Given the description of an element on the screen output the (x, y) to click on. 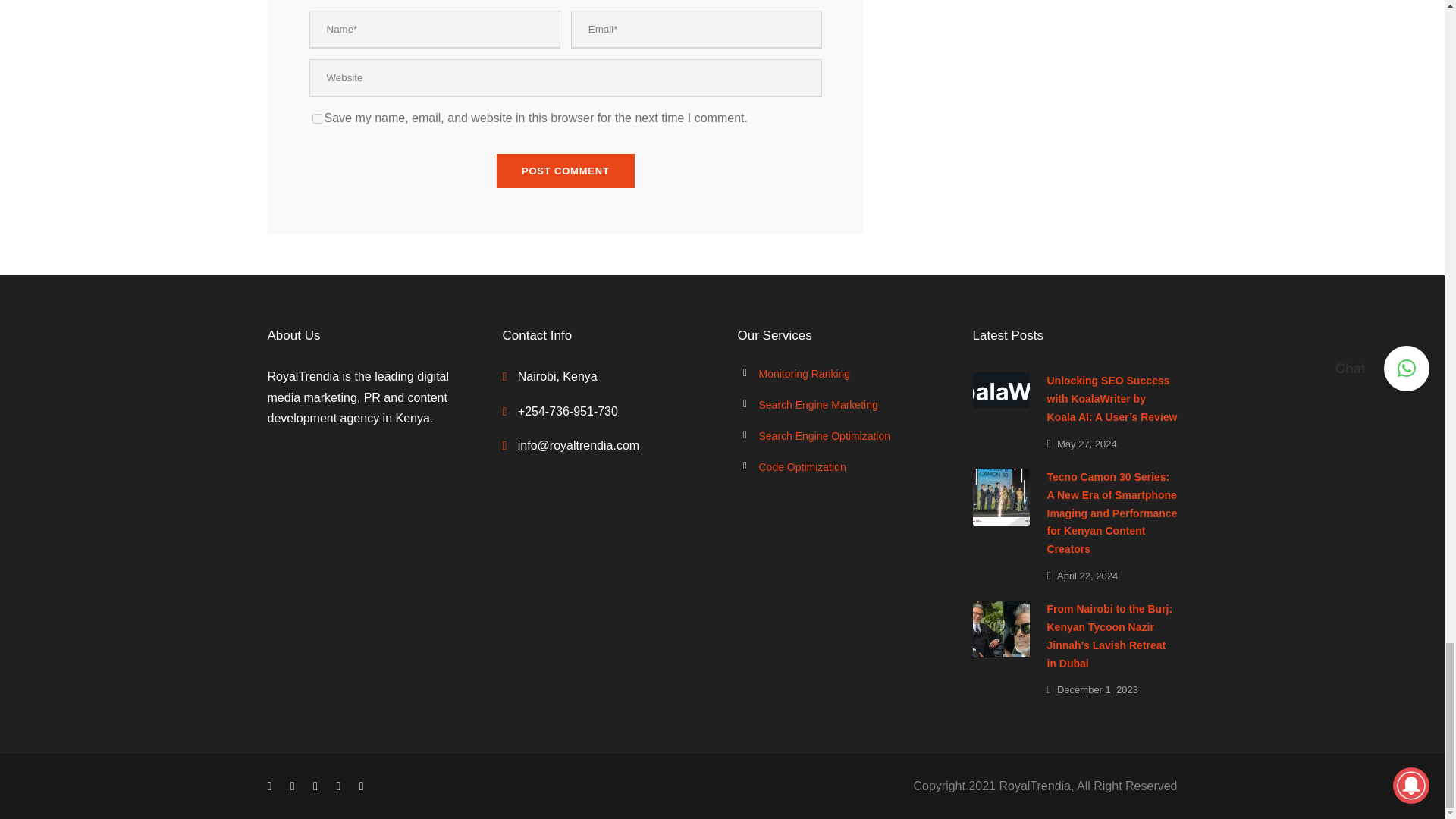
Post Comment (565, 170)
yes (317, 118)
